Given the description of an element on the screen output the (x, y) to click on. 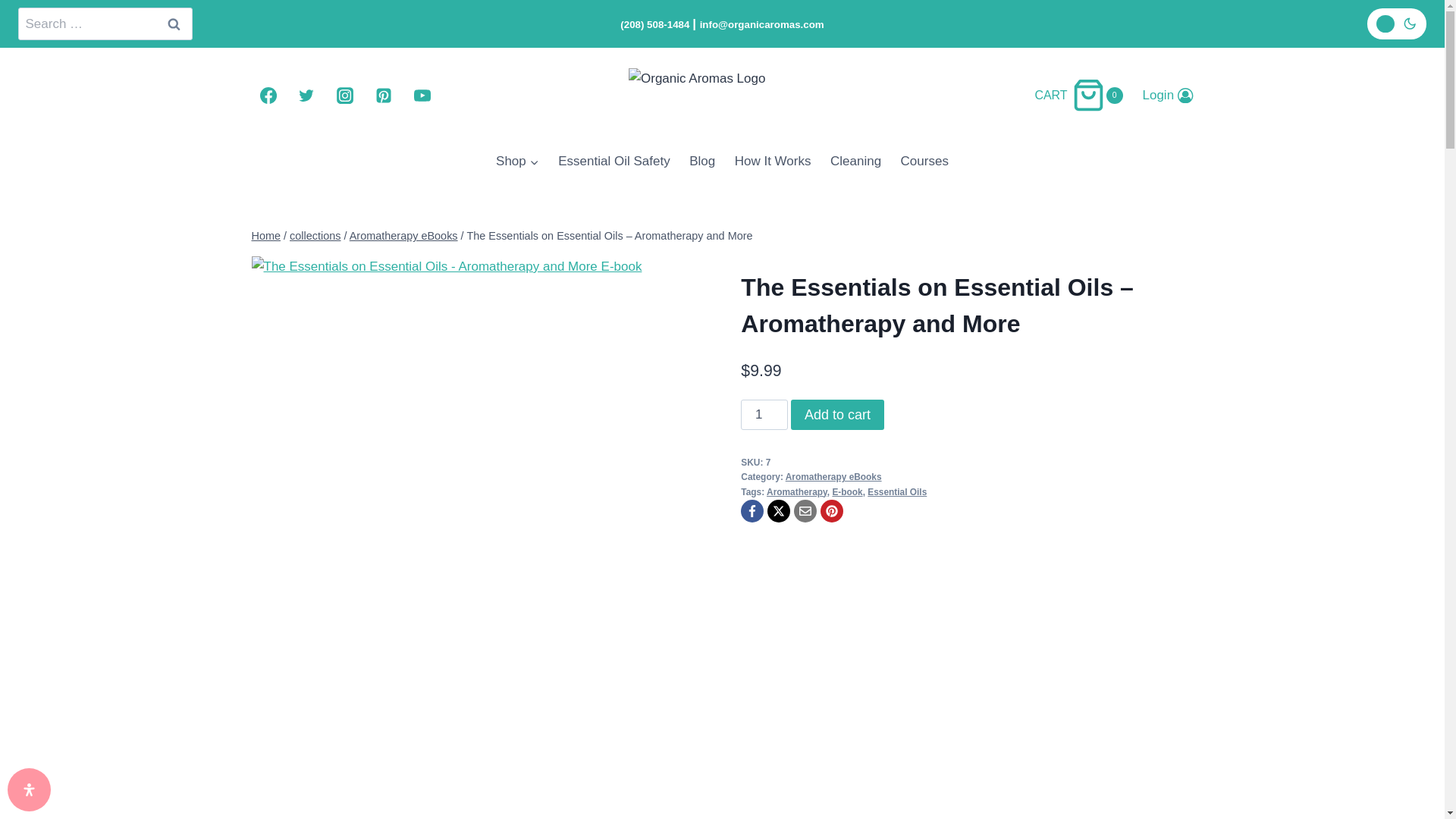
Accessibility (28, 789)
Search (1083, 94)
Search (173, 23)
Search (173, 23)
Cleaning (173, 23)
How It Works (856, 161)
Shop (773, 161)
Courses (517, 161)
Essential Oil Safety (924, 161)
1 (613, 161)
Blog (764, 414)
Login (702, 161)
